Given the description of an element on the screen output the (x, y) to click on. 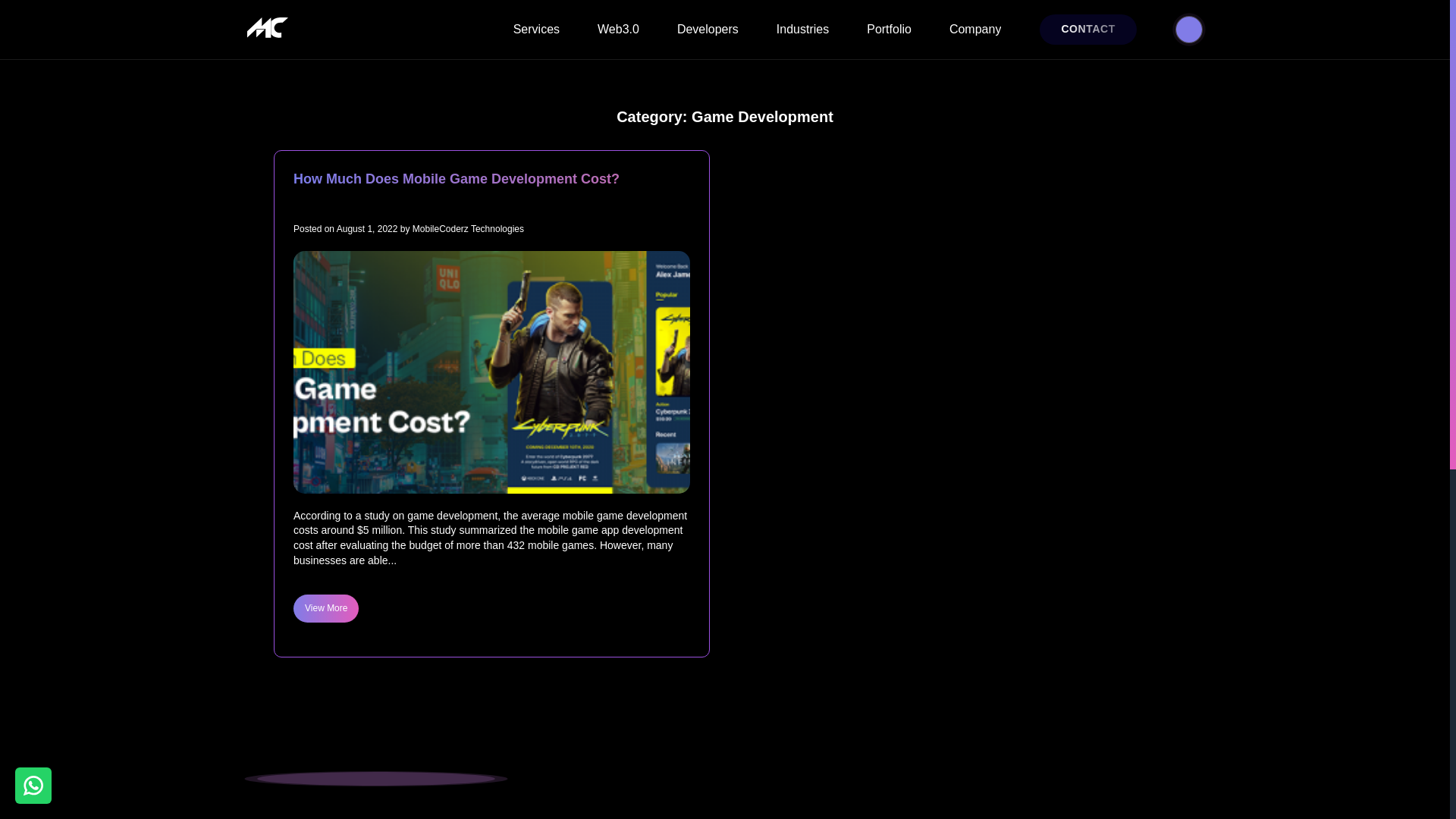
Industries (802, 39)
Developers (707, 39)
Services (536, 39)
Mobilecoderz (269, 28)
Web3.0 (617, 39)
Apps (536, 39)
